Given the description of an element on the screen output the (x, y) to click on. 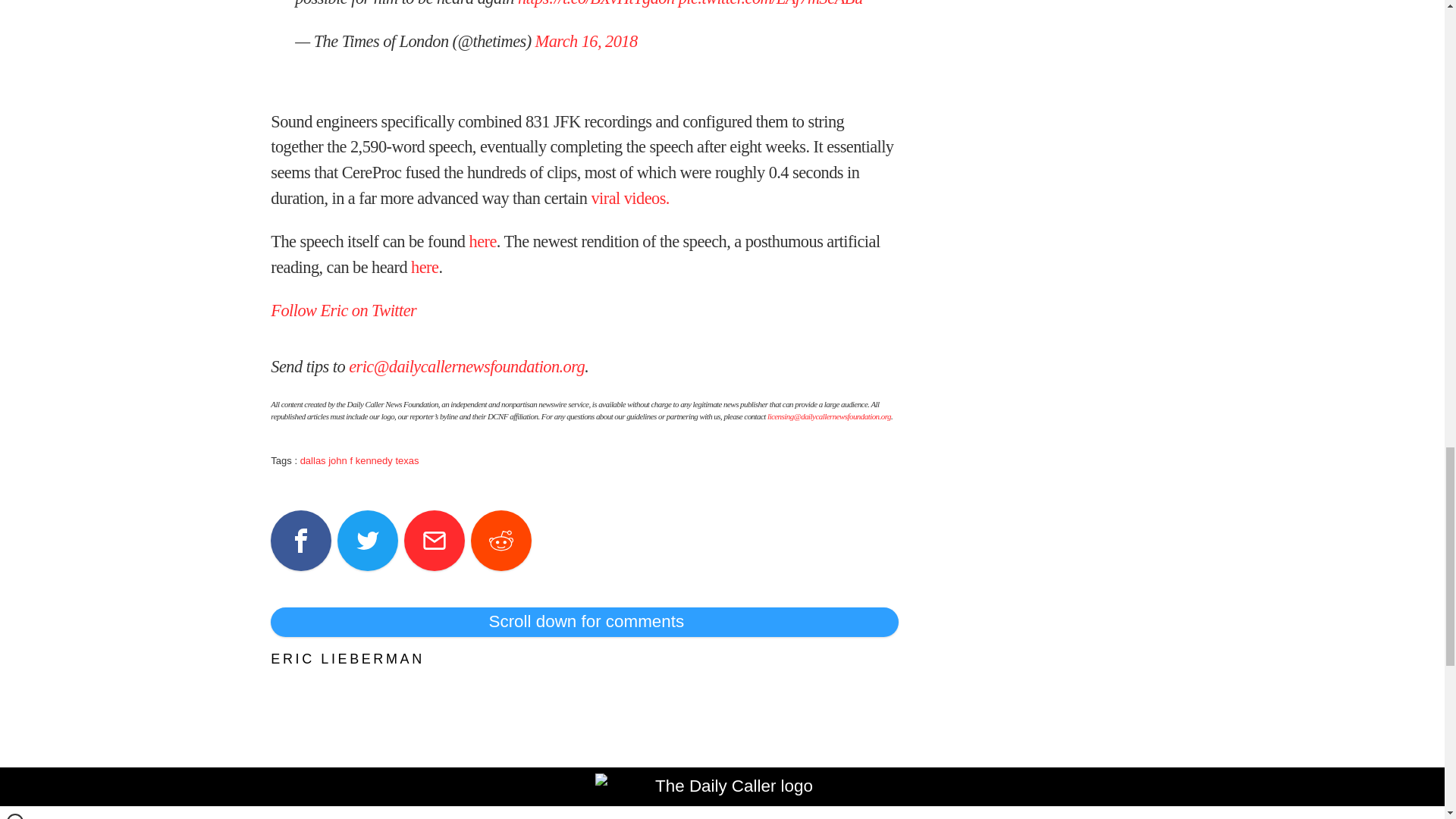
To home page (727, 796)
Scroll down for comments (584, 621)
